Given the description of an element on the screen output the (x, y) to click on. 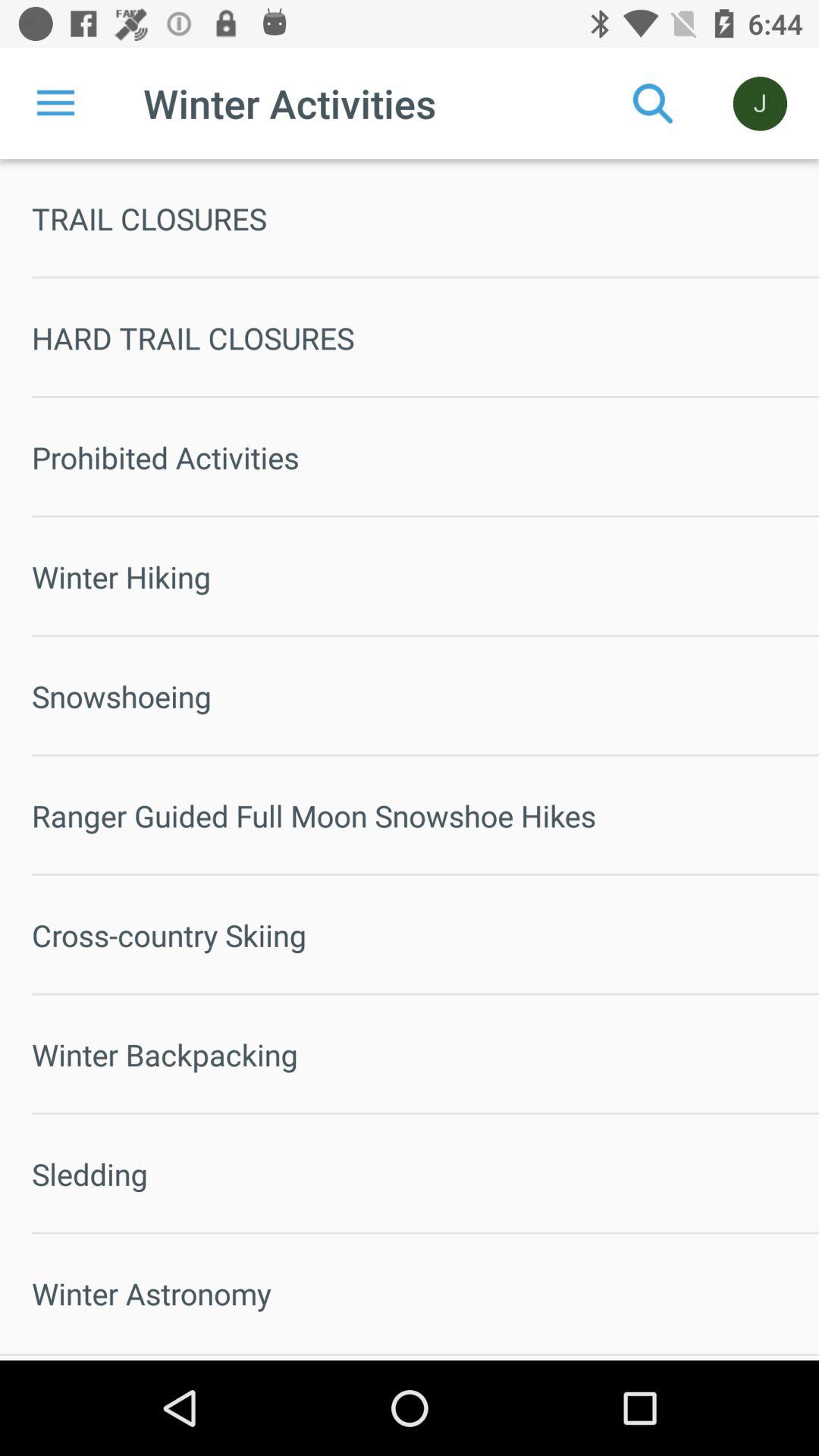
jump to snowshoeing (425, 696)
